Given the description of an element on the screen output the (x, y) to click on. 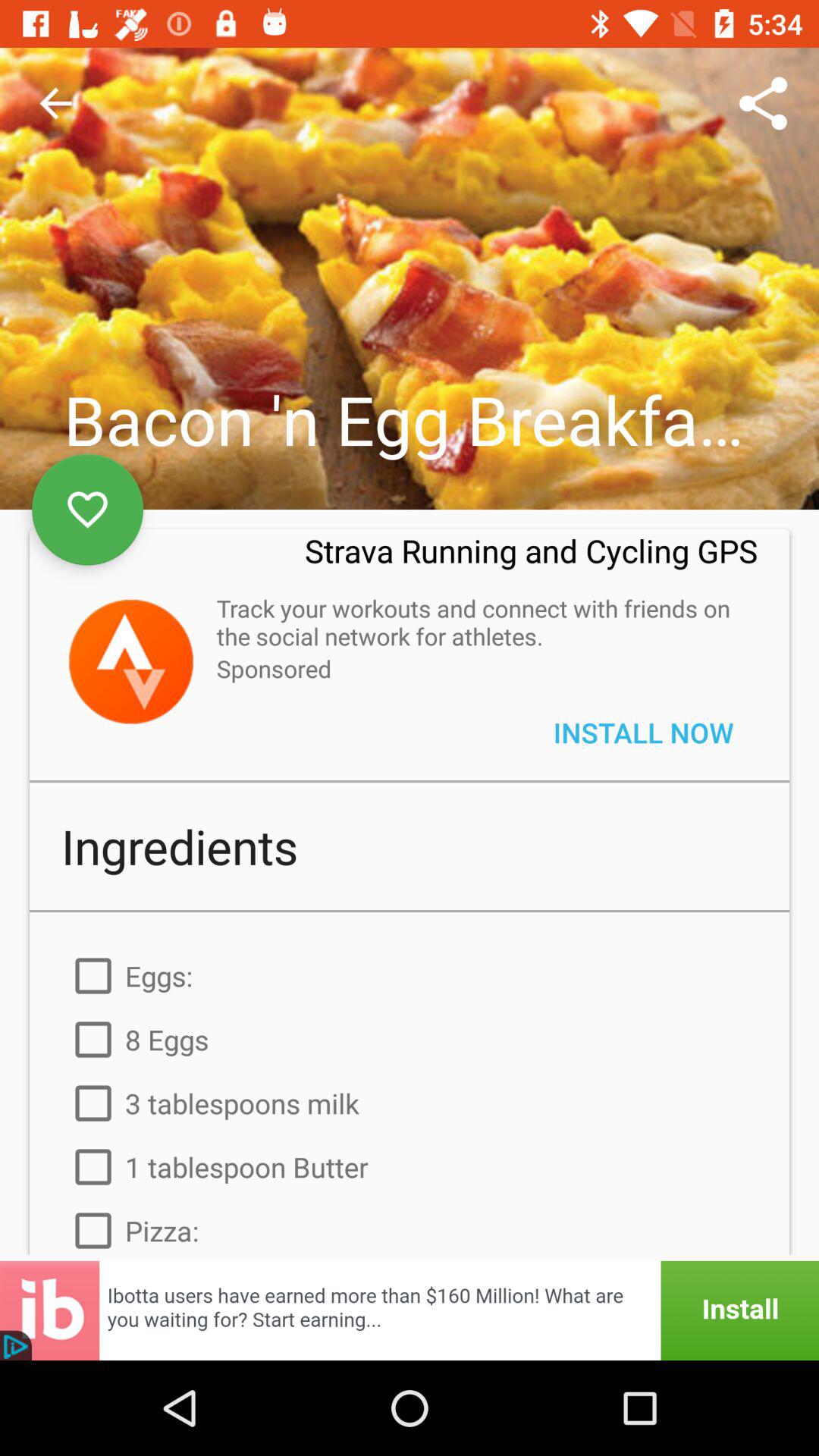
click item below the 1 tablespoon butter (409, 1226)
